Given the description of an element on the screen output the (x, y) to click on. 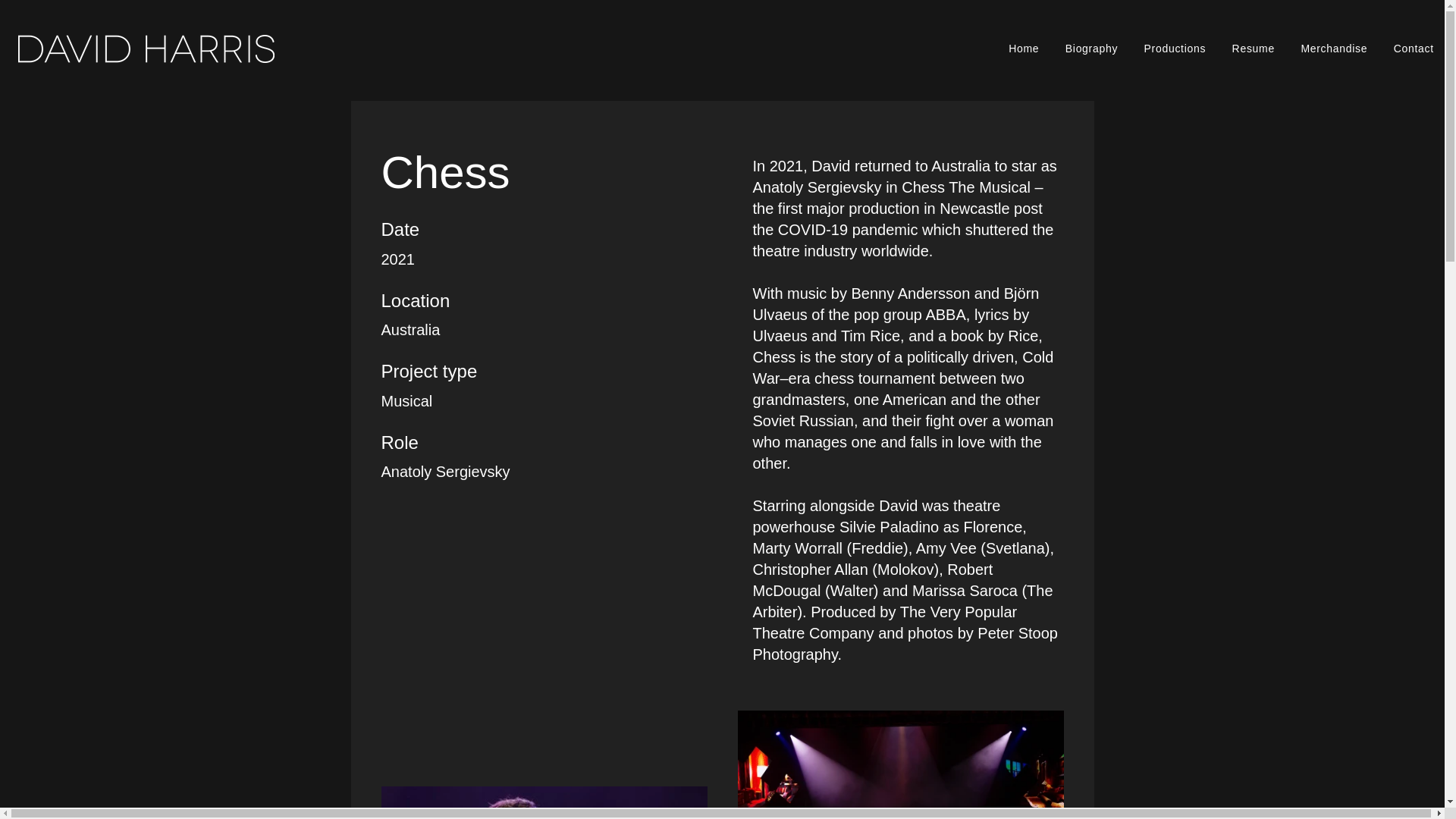
Biography (1091, 48)
Merchandise (1333, 48)
DAVID-HARRIS1.png (146, 49)
Productions (1174, 48)
Contact (1413, 48)
Home (1023, 48)
Resume (1252, 48)
